Given the description of an element on the screen output the (x, y) to click on. 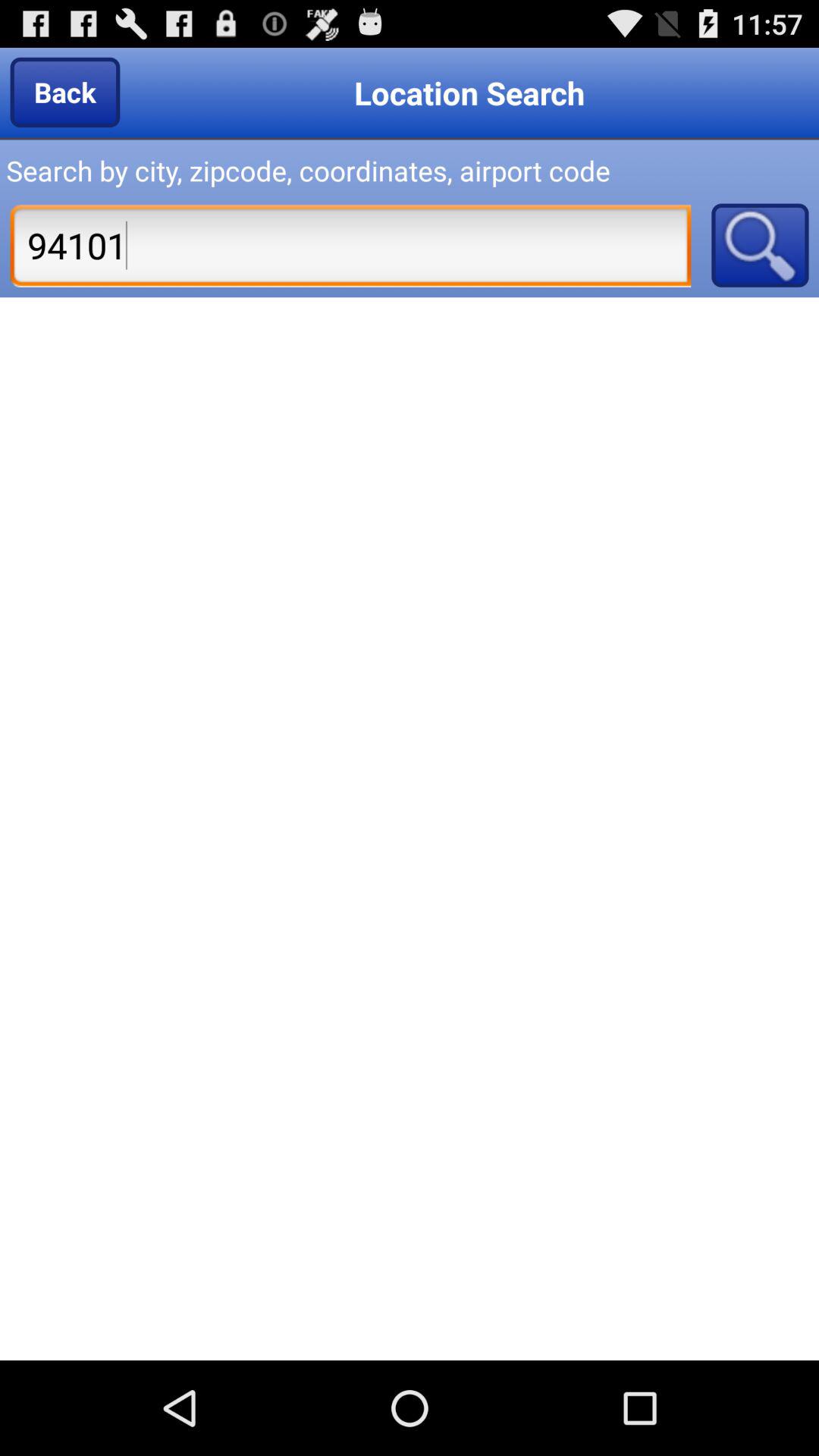
press the item to the left of location search item (65, 92)
